Given the description of an element on the screen output the (x, y) to click on. 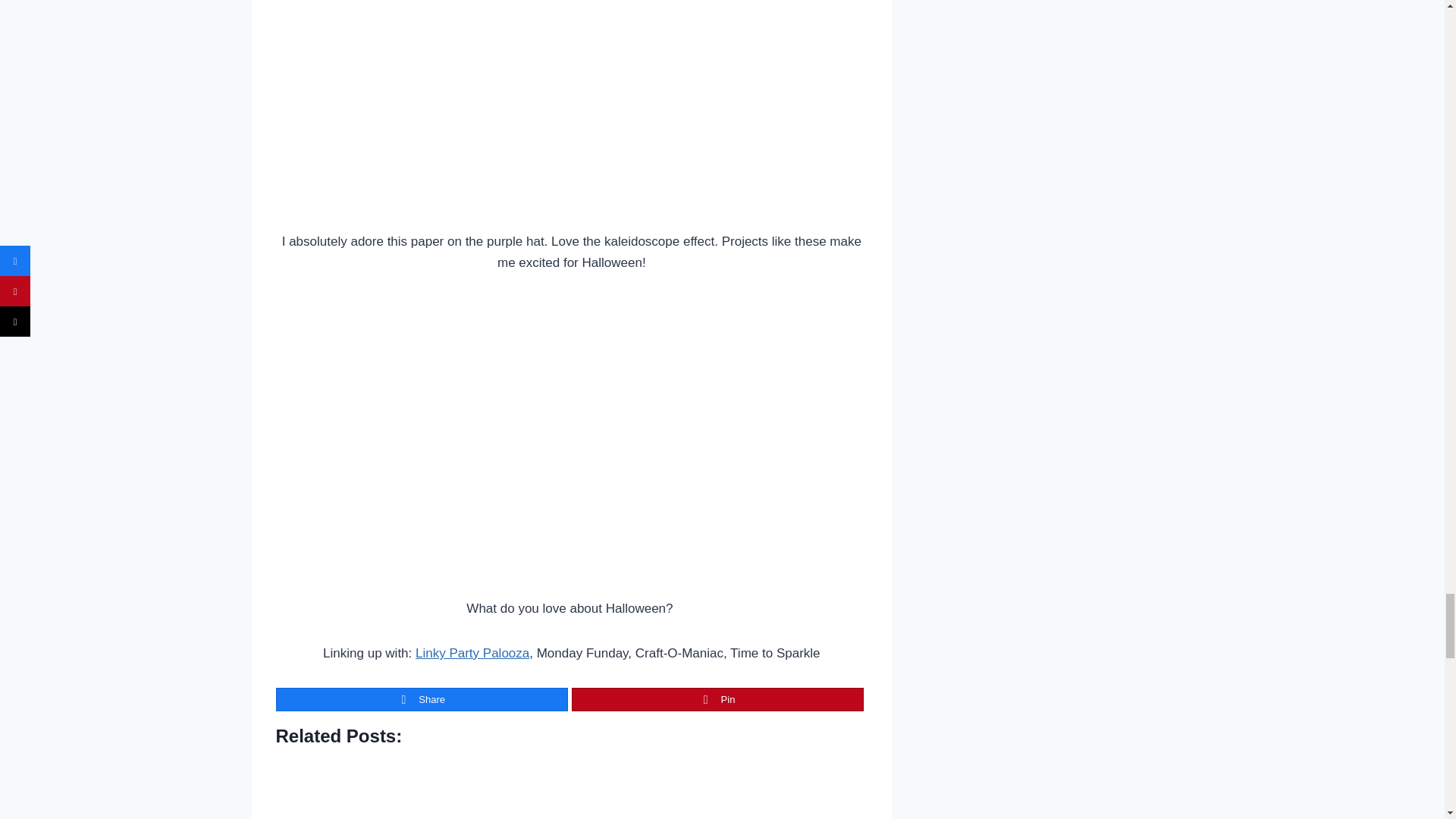
Kid Halloween Craft Blocks (646, 785)
Spider Web Serving Tray (793, 785)
Witch Shoes Halloween Centerpiece plus Printable (349, 785)
